Given the description of an element on the screen output the (x, y) to click on. 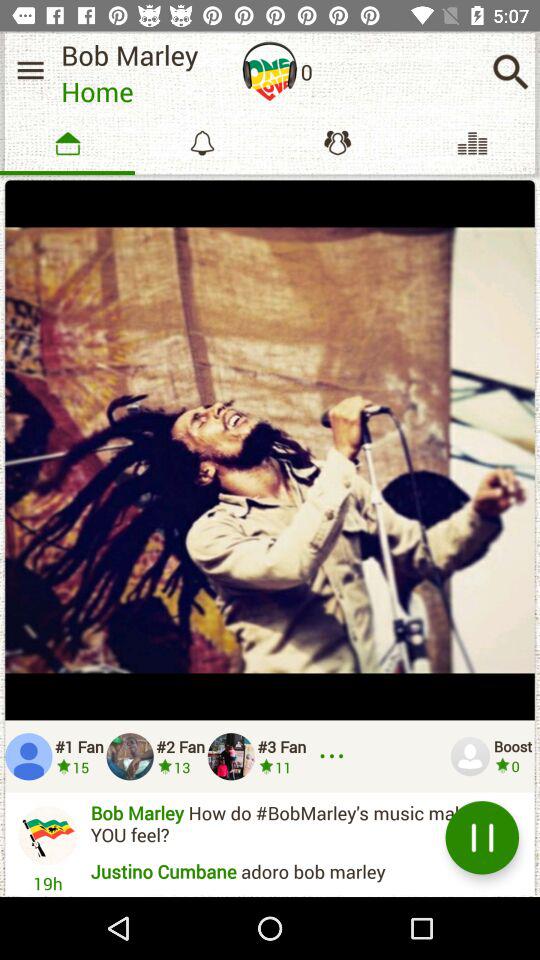
home menu option (30, 69)
